Given the description of an element on the screen output the (x, y) to click on. 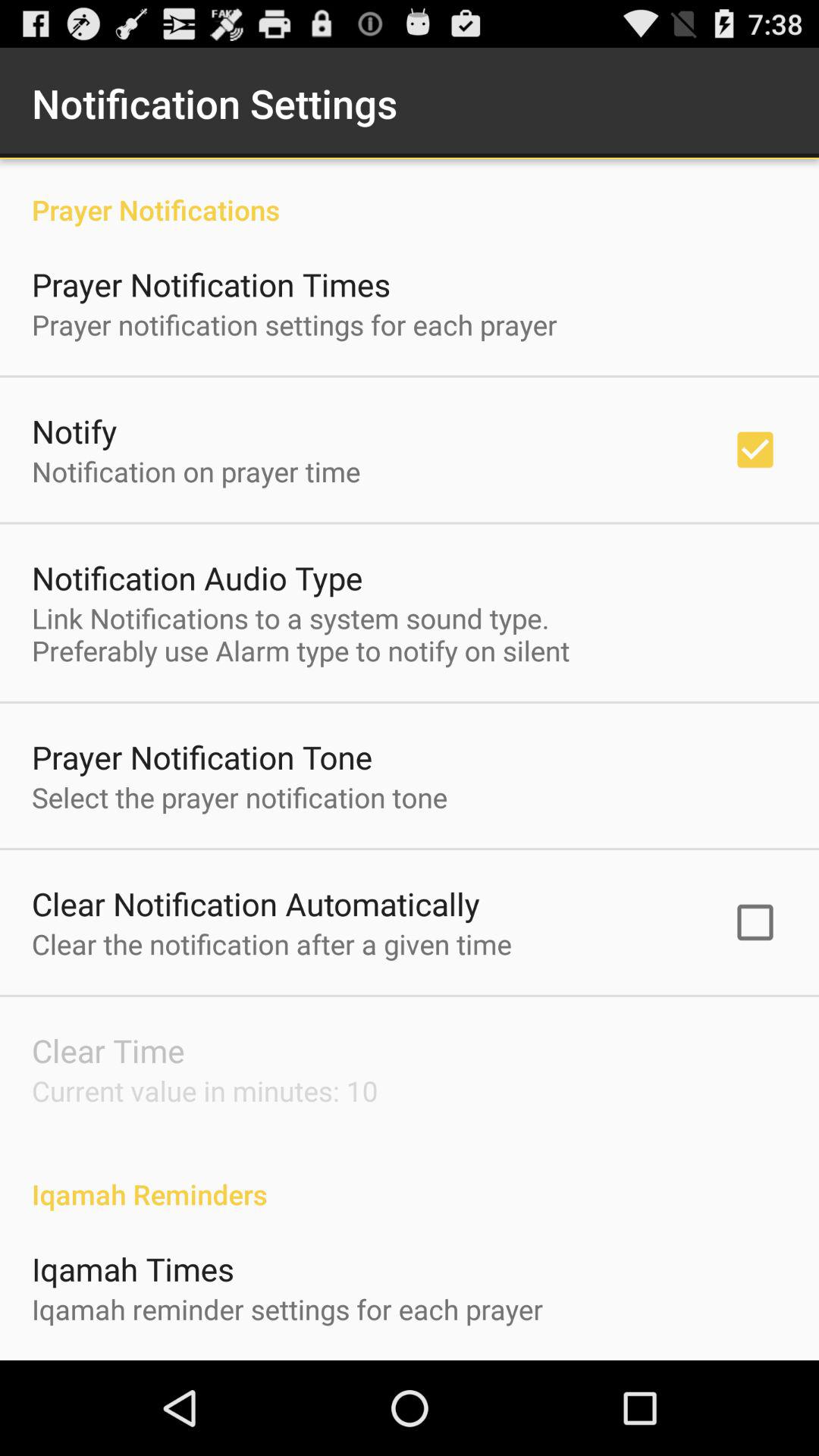
select the app below the notification audio type icon (300, 634)
